Given the description of an element on the screen output the (x, y) to click on. 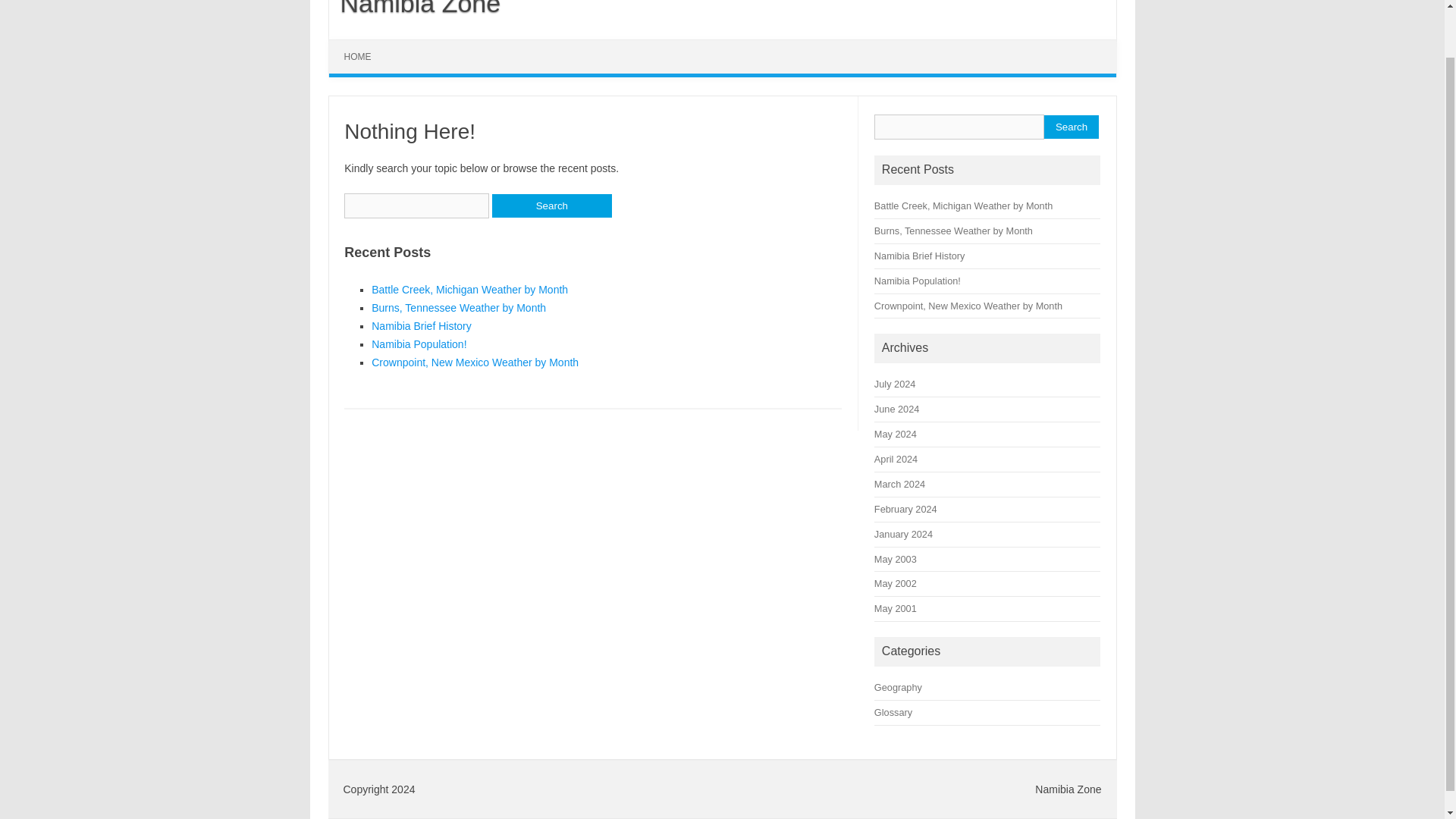
Battle Creek, Michigan Weather by Month (963, 205)
June 2024 (896, 408)
Search (551, 205)
Namibia Brief History (420, 326)
Burns, Tennessee Weather by Month (458, 307)
Namibia Population! (917, 280)
May 2002 (896, 583)
July 2024 (895, 383)
Skip to content (363, 44)
Crownpoint, New Mexico Weather by Month (968, 305)
